Given the description of an element on the screen output the (x, y) to click on. 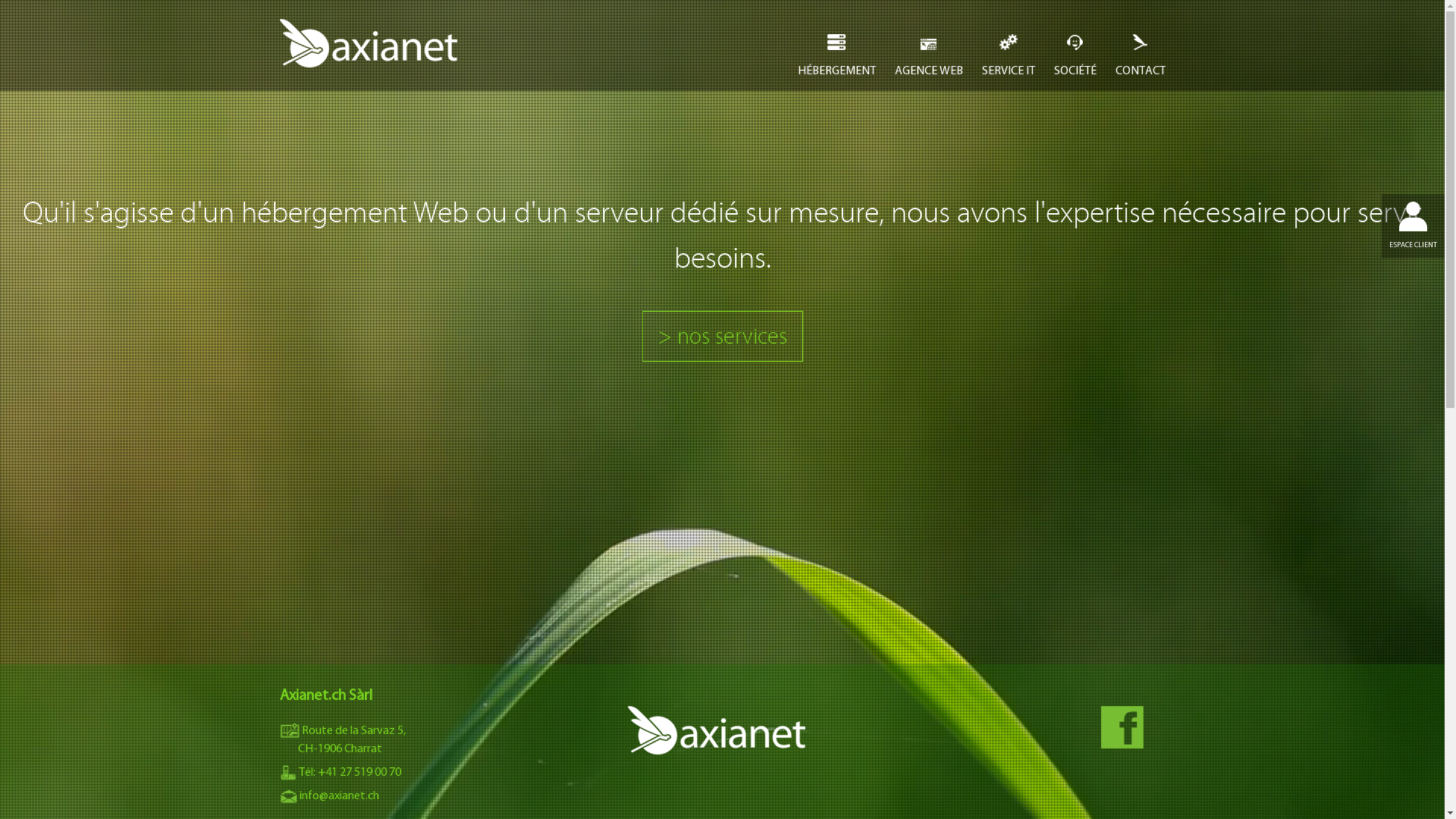
> nos services Element type: text (722, 336)
info@axianet.ch Element type: text (328, 794)
Route de la Sarvaz 5,
        CH-1906 Charrat Element type: text (341, 738)
AGENCE WEB Element type: text (928, 69)
SERVICE IT Element type: text (1007, 69)
CONTACT Element type: text (1139, 69)
